Given the description of an element on the screen output the (x, y) to click on. 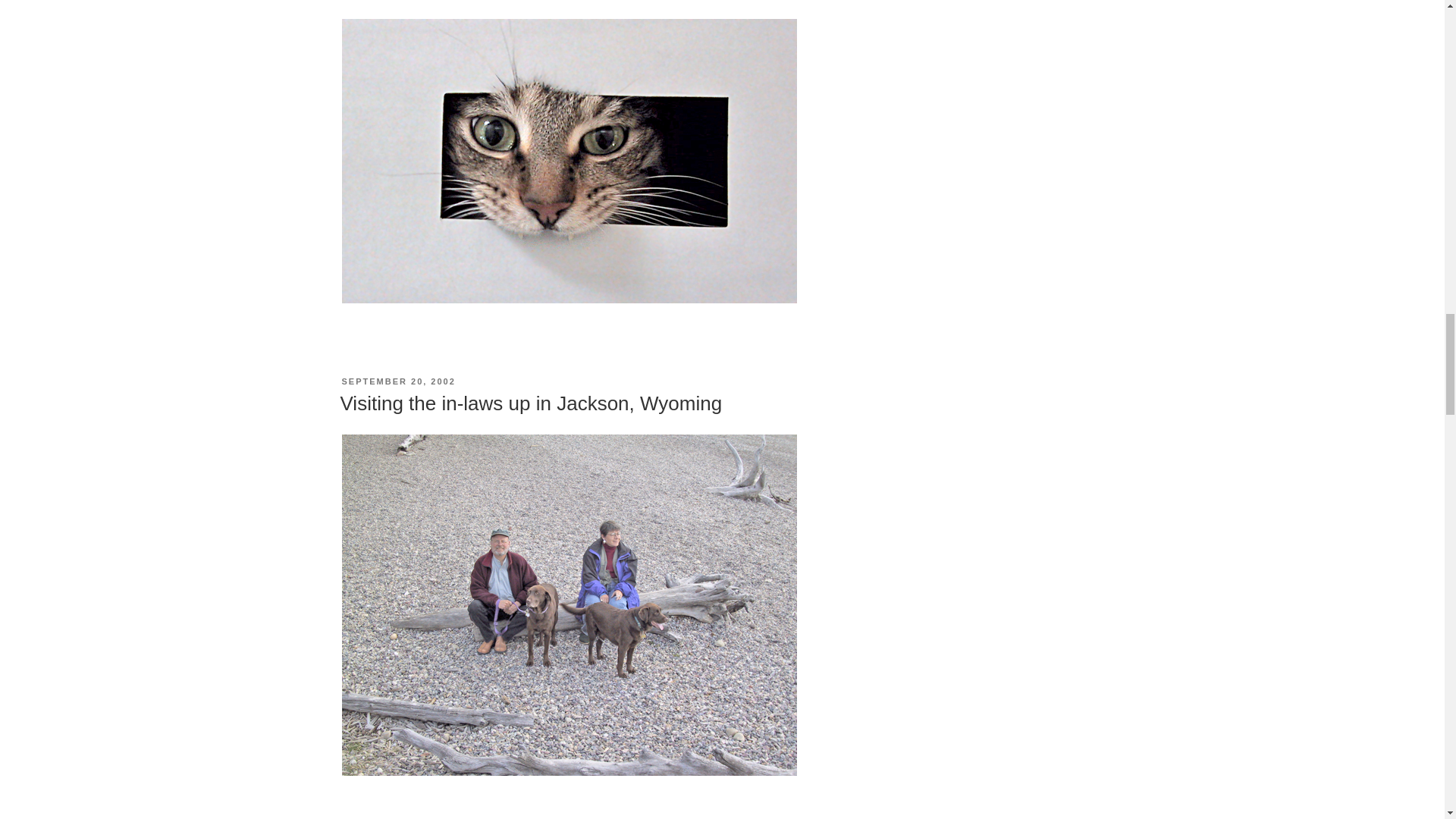
Visiting the in-laws up in Jackson, Wyoming (530, 403)
SEPTEMBER 20, 2002 (397, 380)
